Given the description of an element on the screen output the (x, y) to click on. 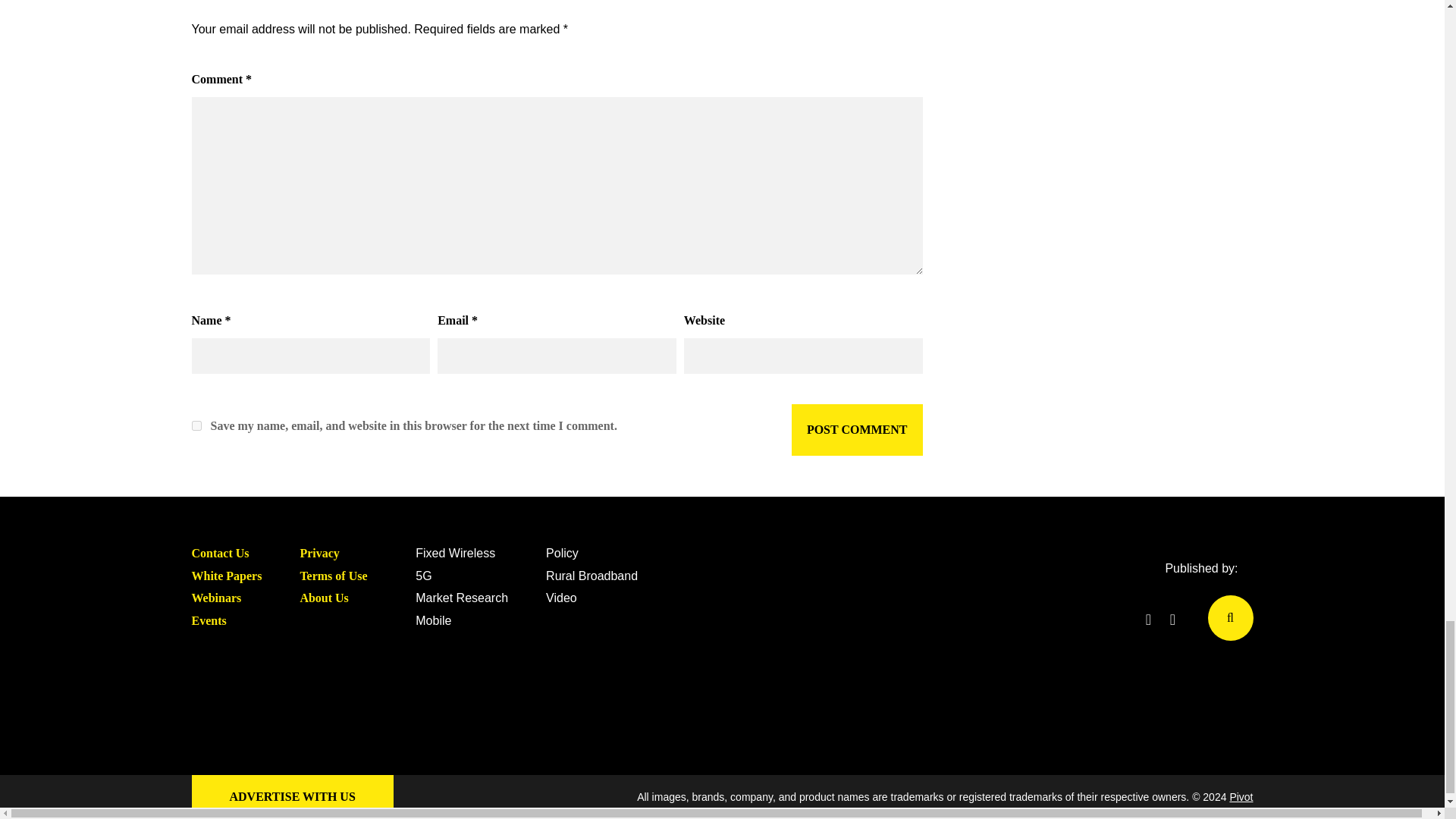
yes (195, 425)
Post Comment (857, 429)
